Given the description of an element on the screen output the (x, y) to click on. 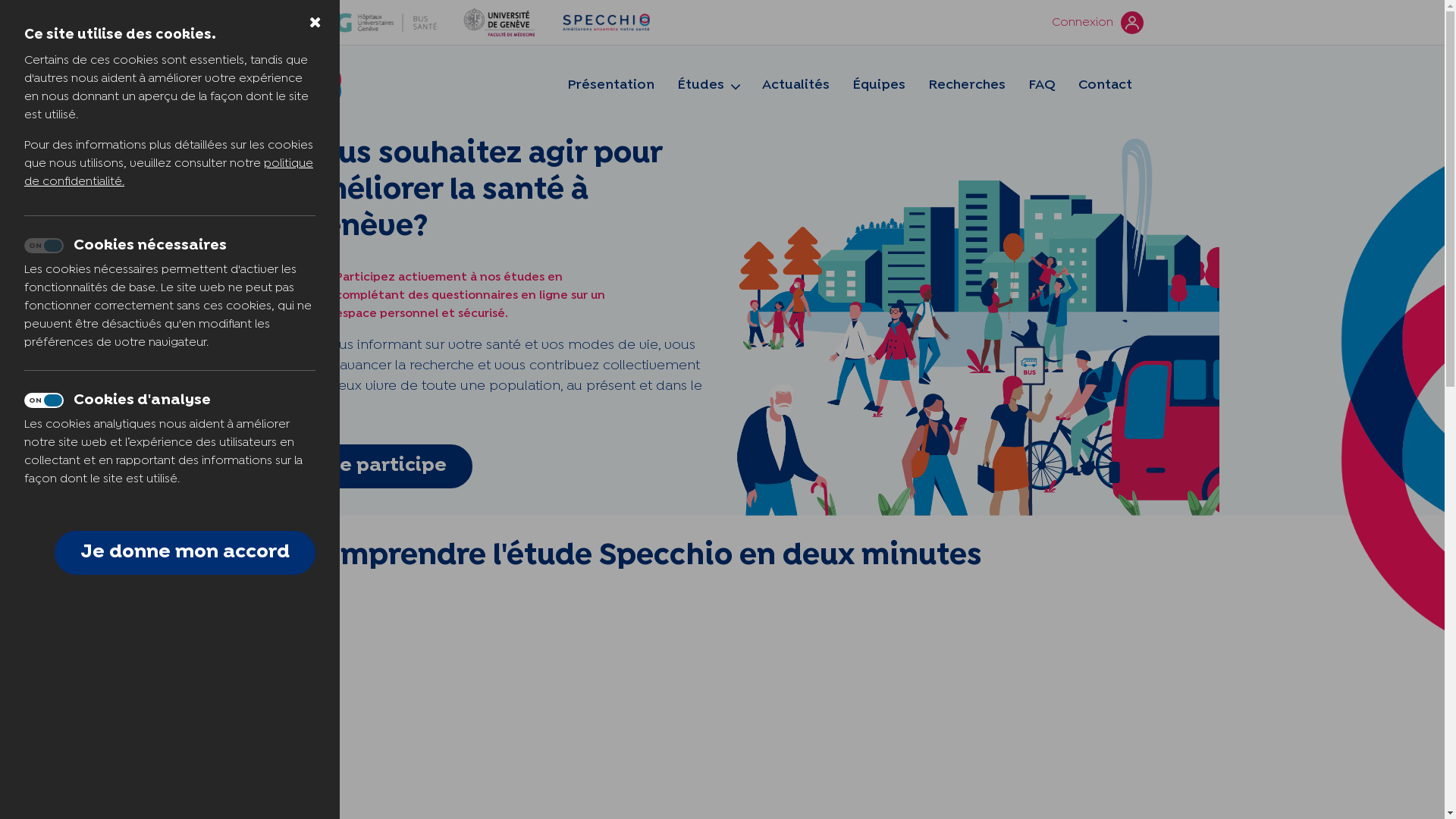
FAQ Element type: text (1041, 85)
Connexion Element type: text (1096, 22)
Specchio-Hub Element type: hover (321, 84)
Contact Element type: text (1104, 85)
Je donne mon accord Element type: text (184, 552)
Je participe Element type: text (386, 466)
Recherches Element type: text (966, 85)
